Given the description of an element on the screen output the (x, y) to click on. 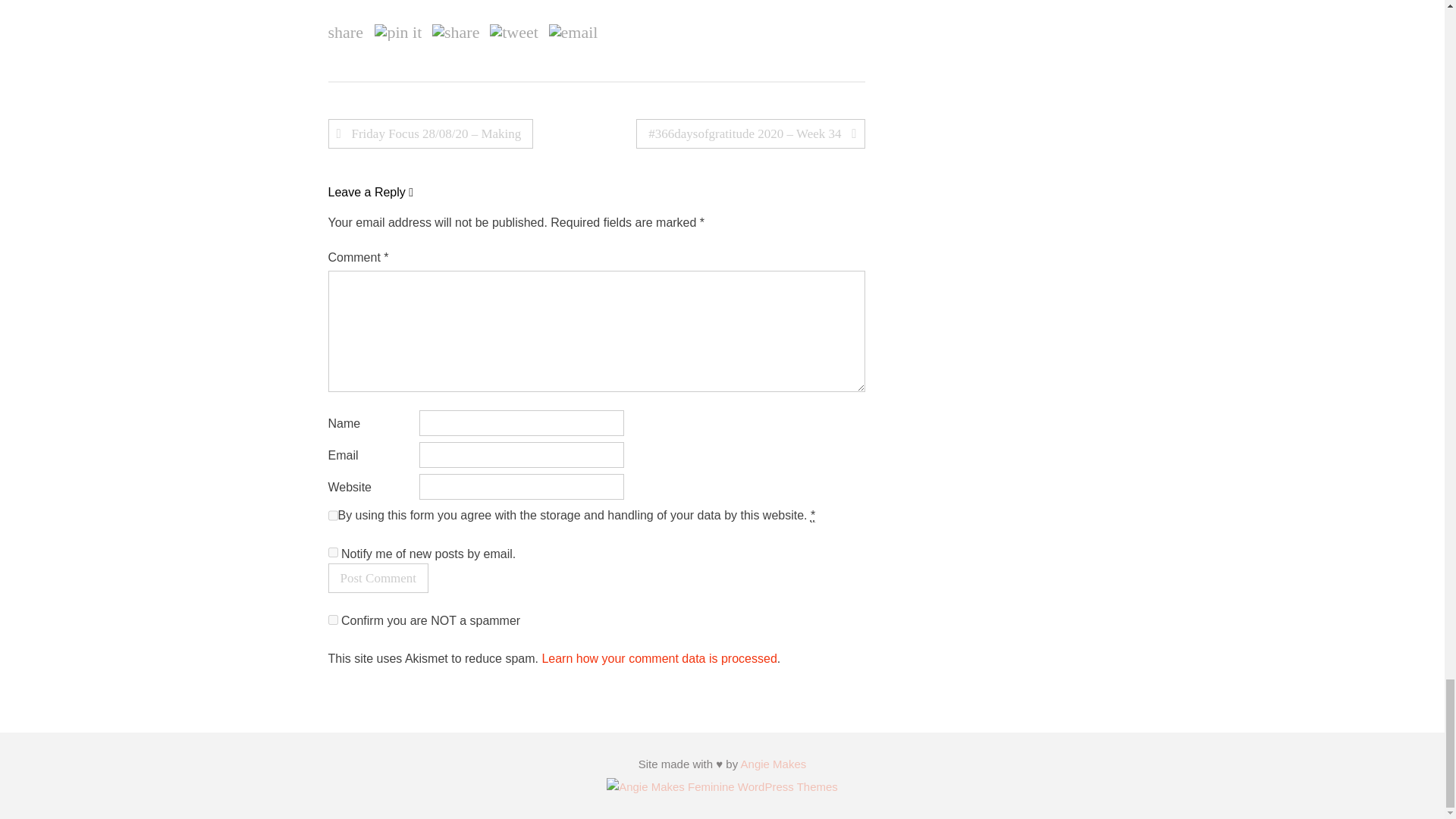
Post Comment (377, 577)
Share by Email (573, 32)
on (332, 619)
subscribe (332, 552)
